Given the description of an element on the screen output the (x, y) to click on. 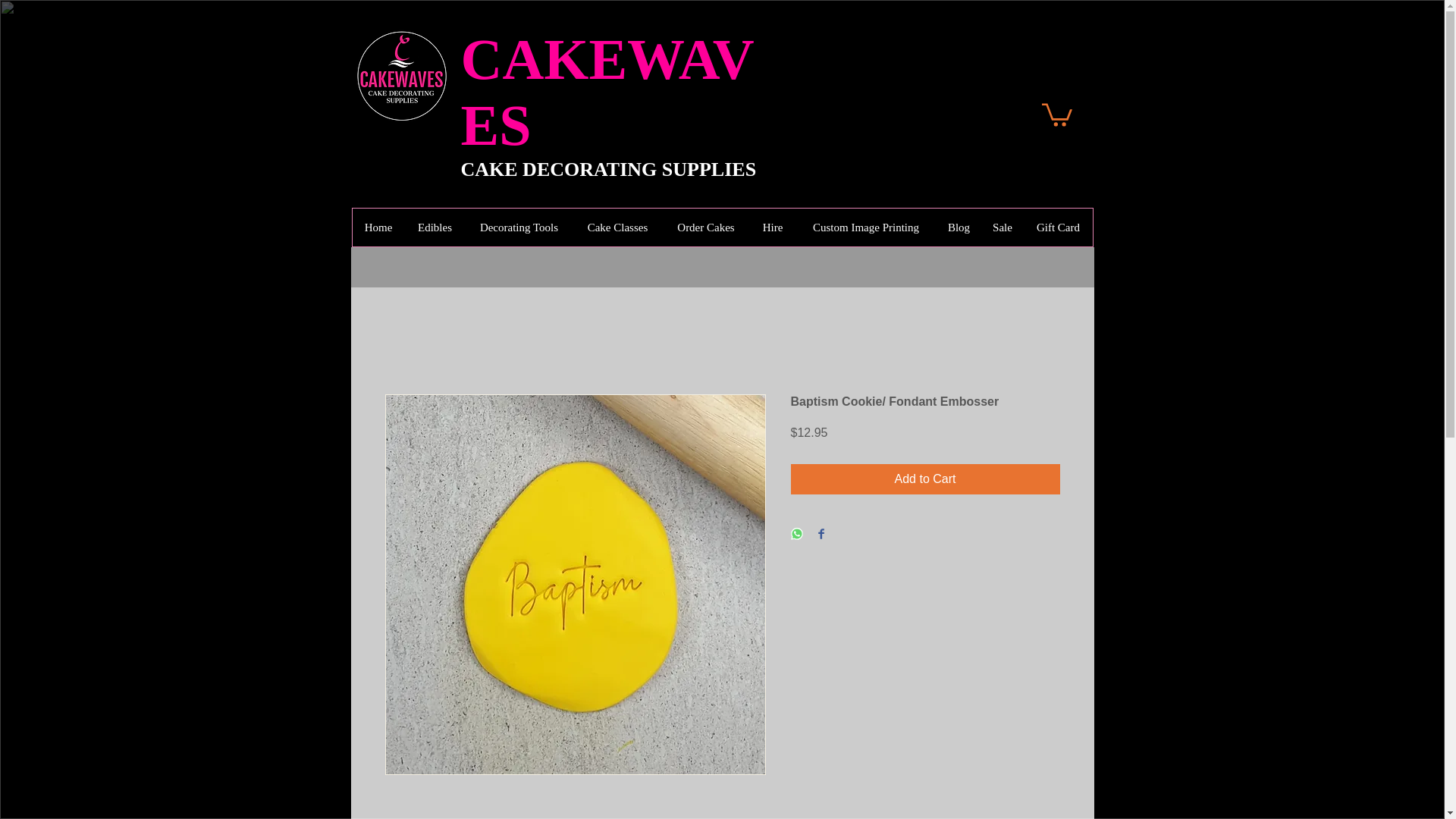
Decorating Tools (518, 227)
AKE DECORATING SUPPLIES (614, 169)
Cake Classes (617, 227)
CAKEWAVES (607, 92)
Home (378, 227)
Edibles (434, 227)
